Given the description of an element on the screen output the (x, y) to click on. 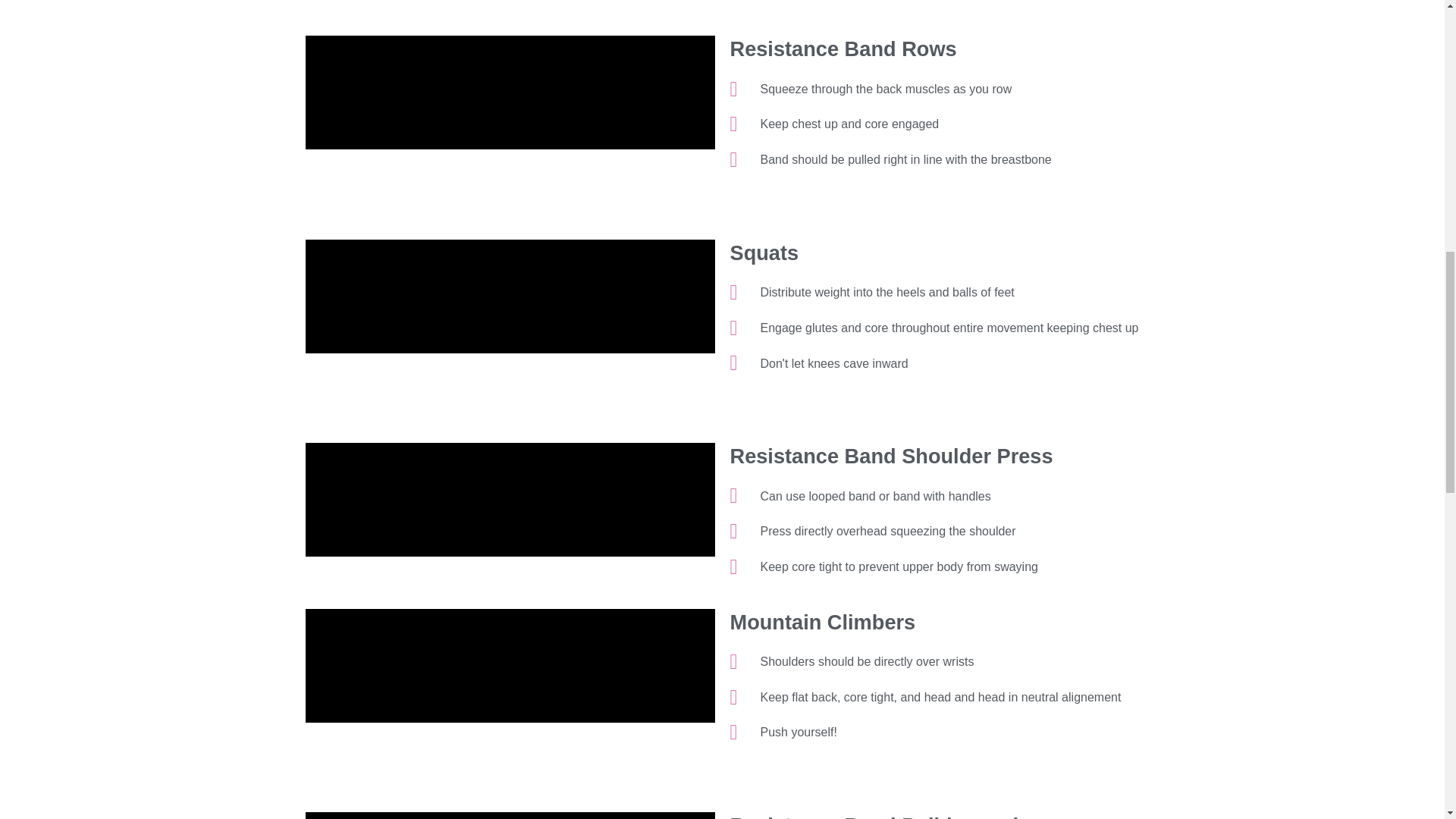
vimeo Video Player (509, 92)
vimeo Video Player (509, 815)
vimeo Video Player (509, 665)
vimeo Video Player (509, 499)
vimeo Video Player (509, 295)
